Given the description of an element on the screen output the (x, y) to click on. 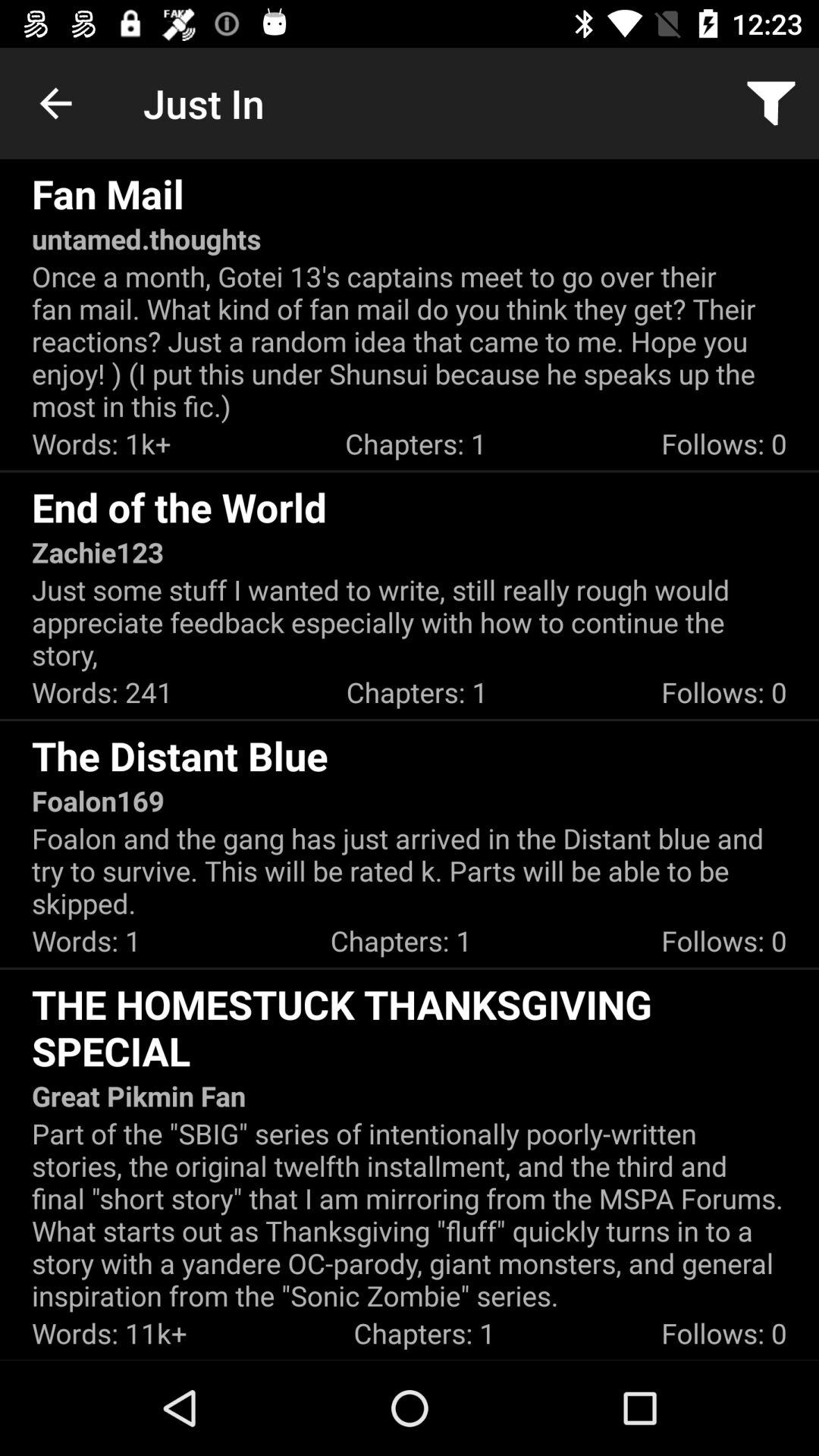
launch the app next to the just in app (771, 103)
